Given the description of an element on the screen output the (x, y) to click on. 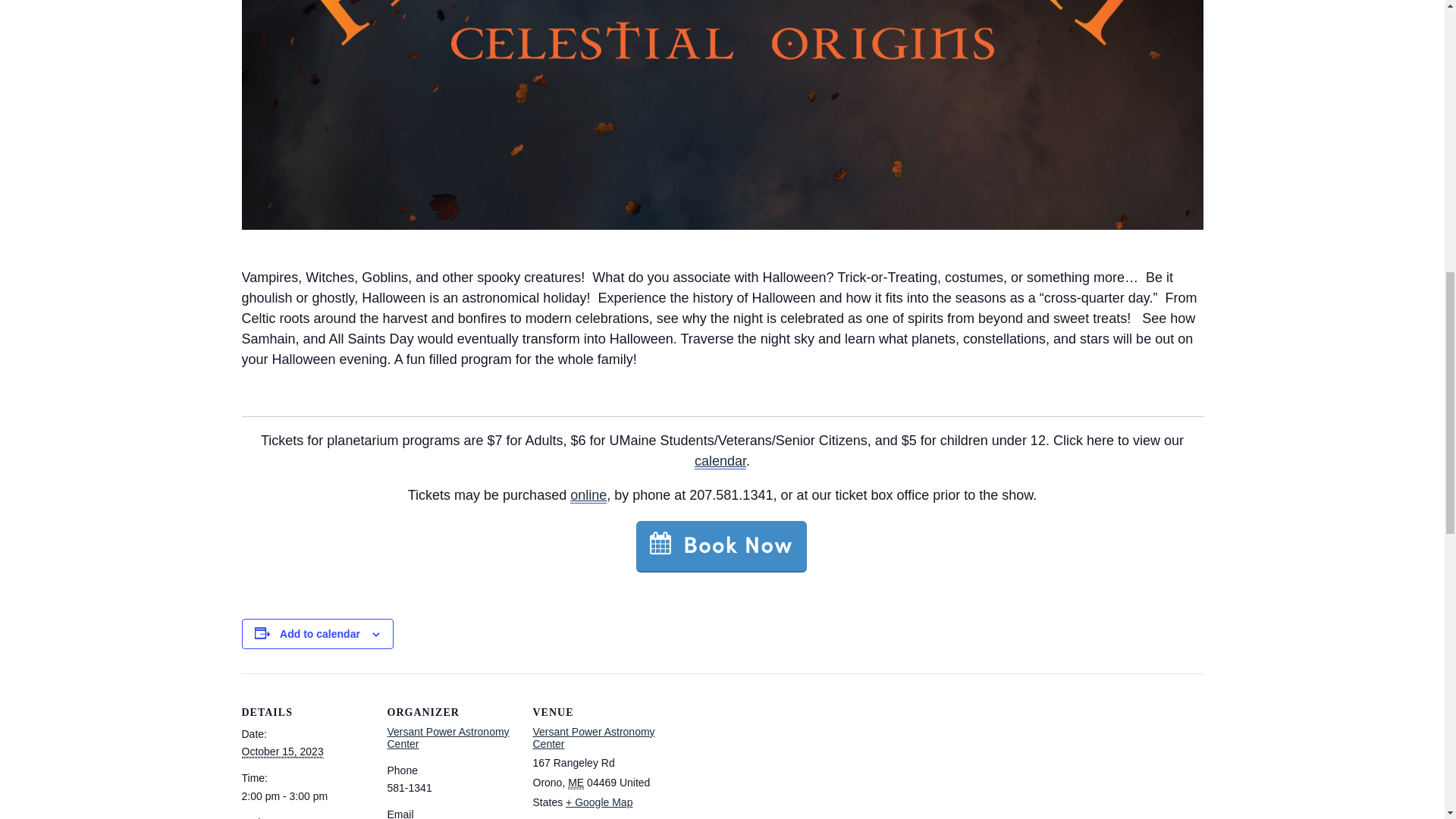
Versant Power Astronomy Center (447, 737)
2023-10-15 (282, 751)
Maine (575, 782)
Click to view a Google Map (598, 802)
2023-10-15 (304, 796)
